Given the description of an element on the screen output the (x, y) to click on. 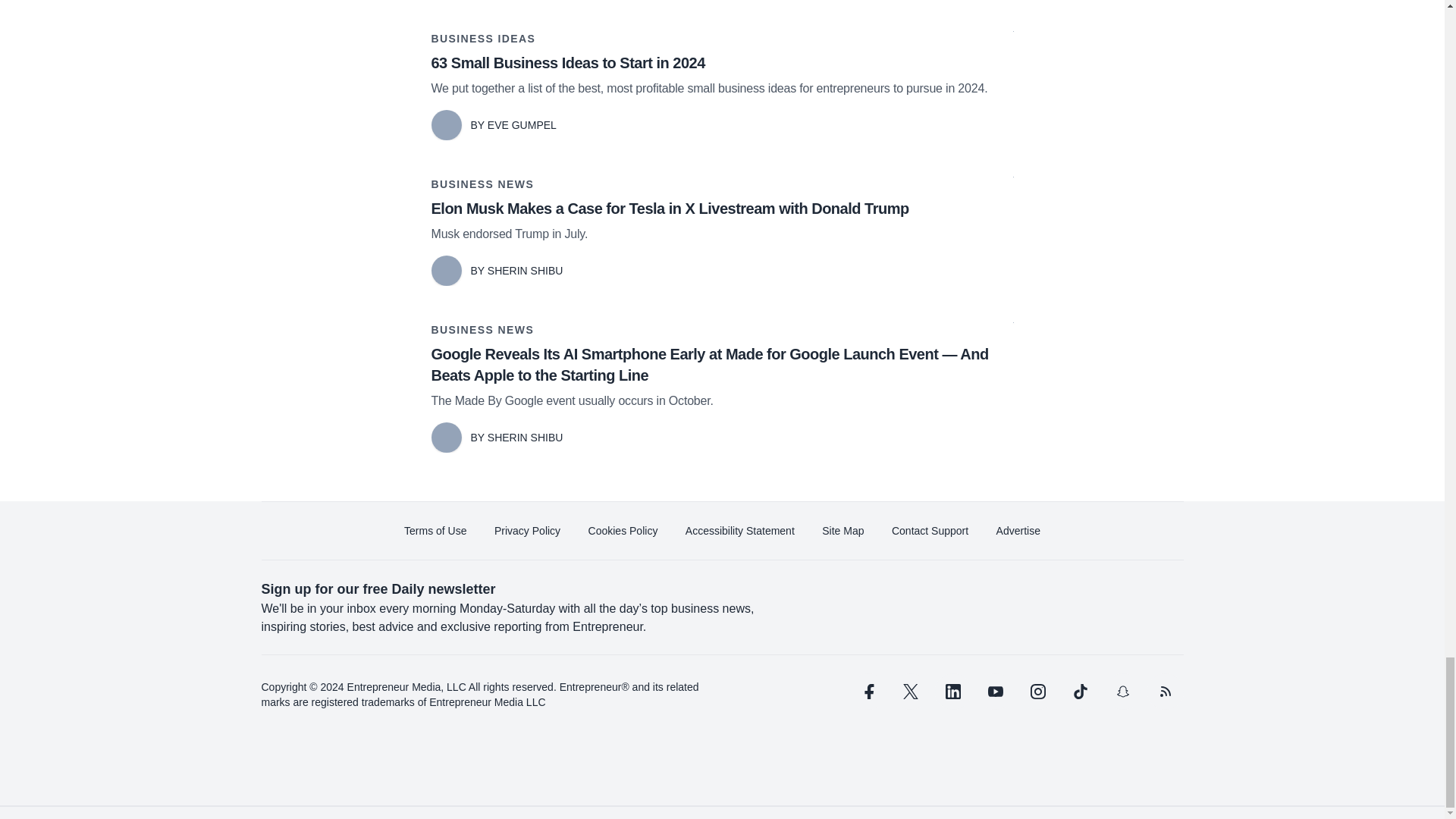
tiktok (1079, 691)
snapchat (1121, 691)
facebook (866, 691)
twitter (909, 691)
youtube (994, 691)
instagram (1037, 691)
linkedin (952, 691)
